Given the description of an element on the screen output the (x, y) to click on. 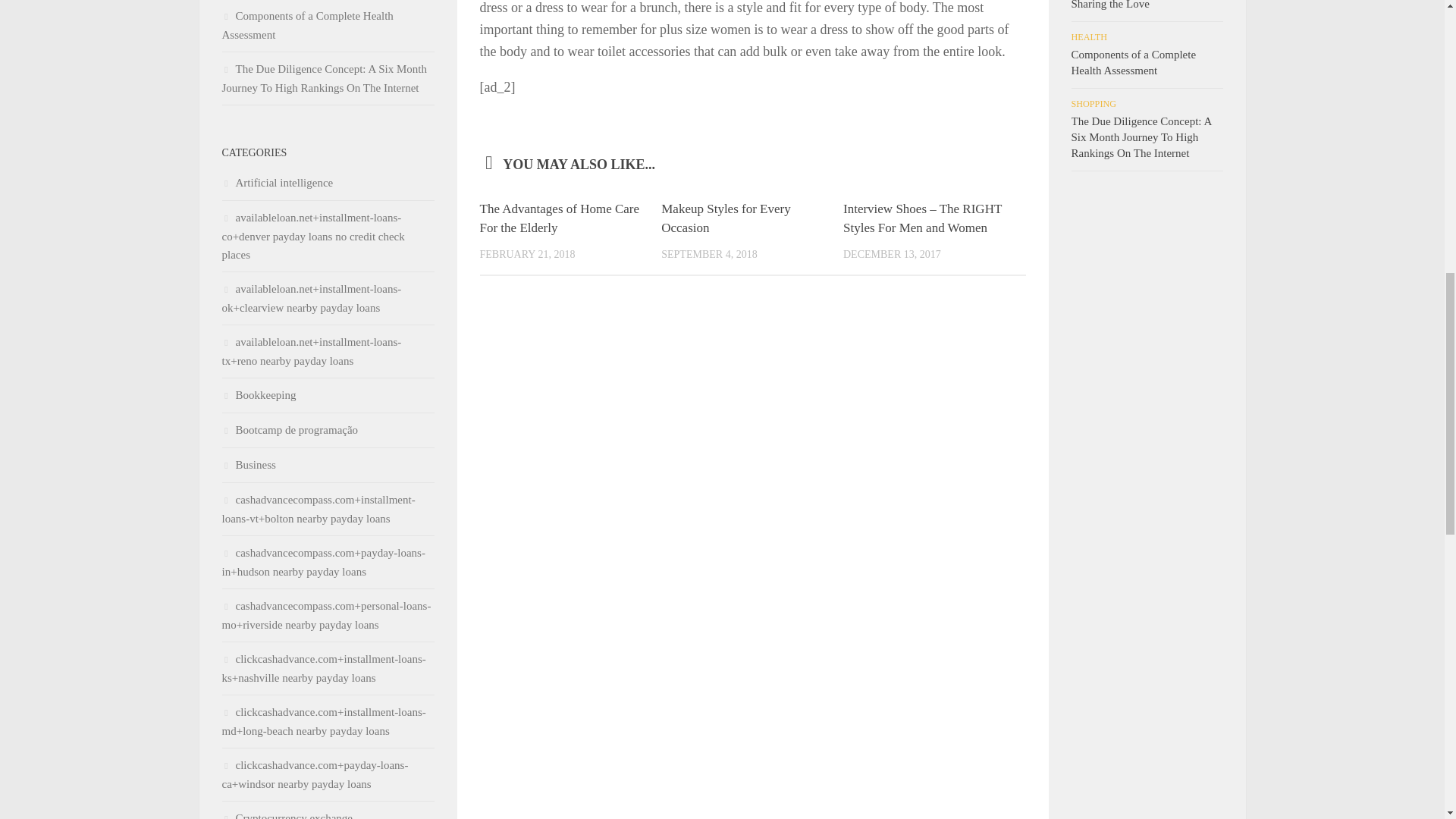
The Advantages of Home Care For the Elderly (559, 218)
Makeup Styles for Every Occasion (725, 218)
Permalink to The Advantages of Home Care For the Elderly (559, 218)
Permalink to Makeup Styles for Every Occasion (725, 218)
